Given the description of an element on the screen output the (x, y) to click on. 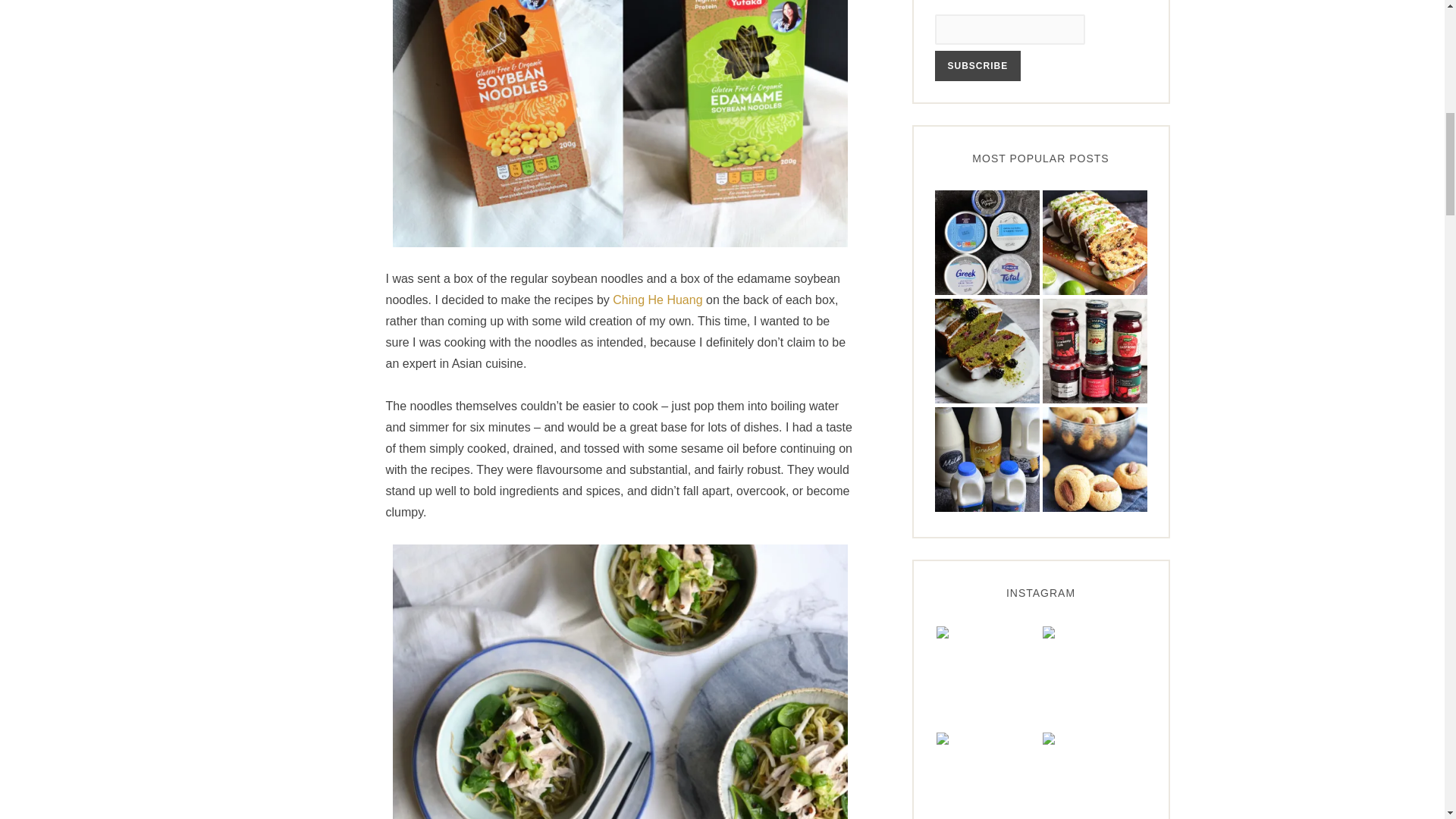
The Taste Test: Whole Milk (986, 459)
Subscribe (977, 65)
Subscribe (977, 65)
Pistachio, Blackberry, and Lemon Loaf Cake (986, 351)
Spanish Almond Cookies (1094, 459)
The Taste Test: Raspberry Jam (1094, 351)
The Taste Test: Greek Yoghurt (986, 242)
Ching He Huang (656, 300)
